Given the description of an element on the screen output the (x, y) to click on. 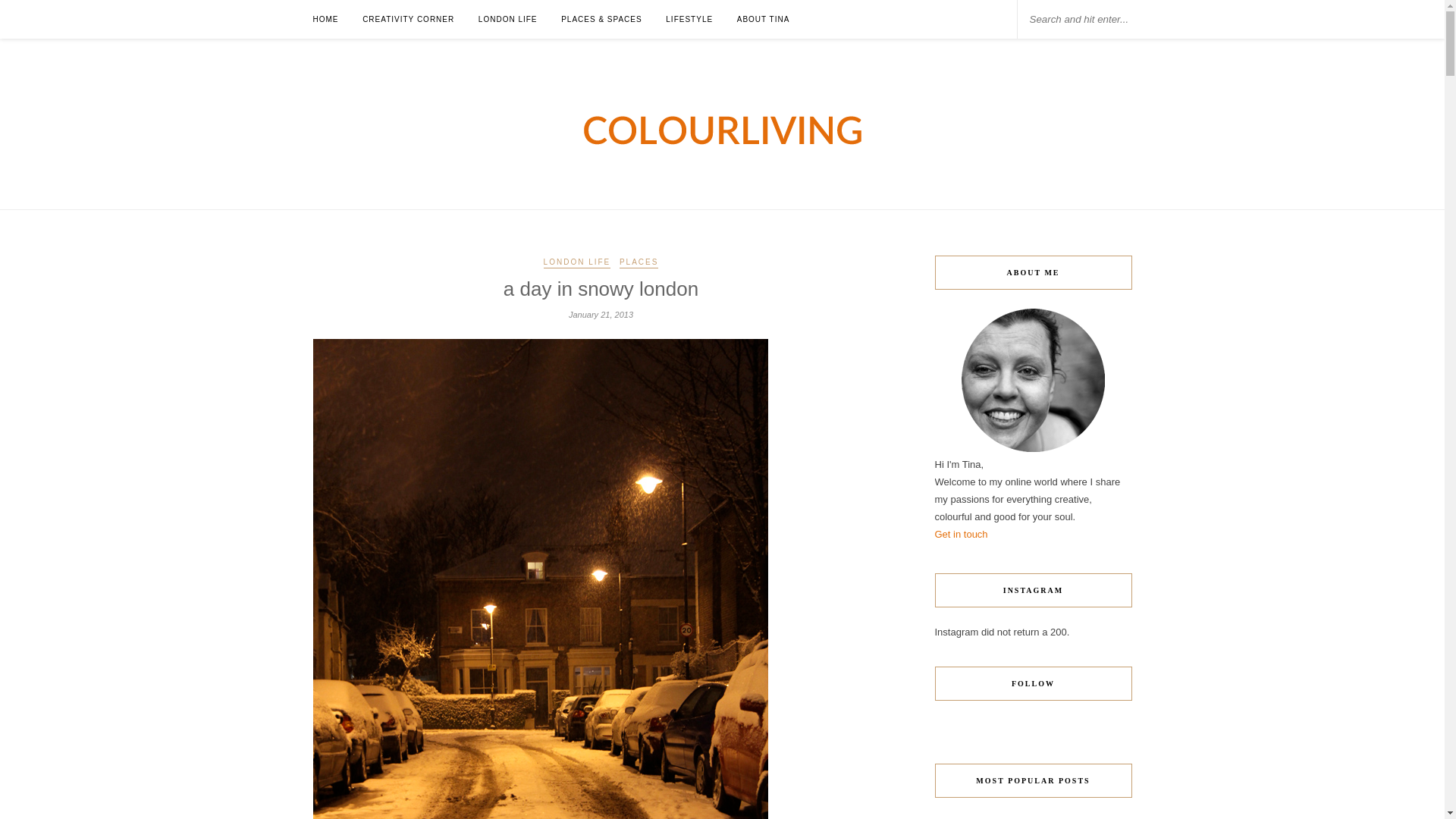
LONDON LIFE (508, 19)
CREATIVITY CORNER (408, 19)
LIFESTYLE (689, 19)
ABOUT TINA (763, 19)
View all posts in Places (639, 262)
View all posts in London Life (577, 262)
HOME (325, 19)
